Given the description of an element on the screen output the (x, y) to click on. 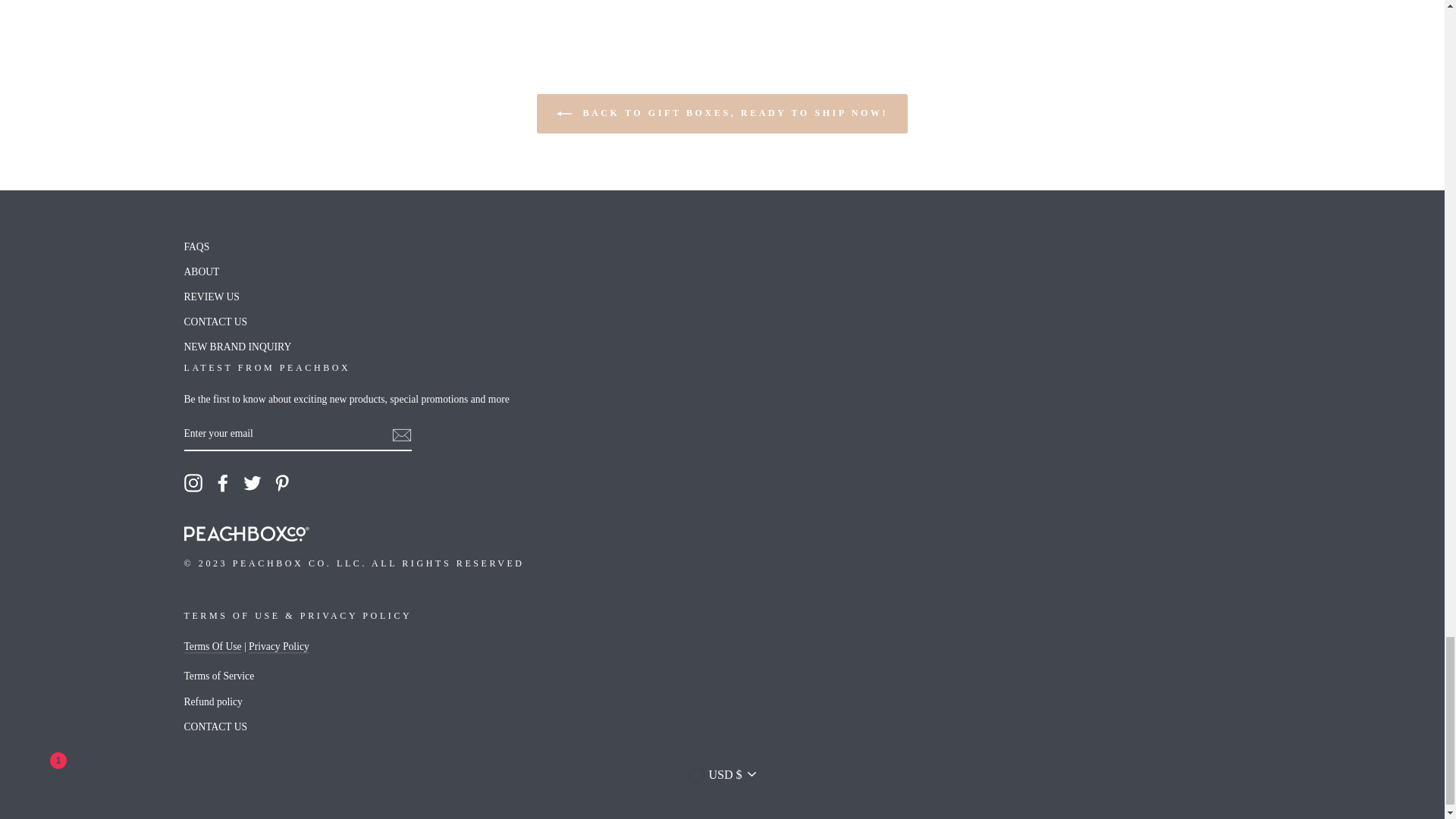
PEACHBOX CO. on Pinterest (282, 483)
PEACHBOX CO. on Facebook (222, 483)
PEACHBOX CO. on Instagram (192, 483)
PEACHBOX CO. on Twitter (251, 483)
